Given the description of an element on the screen output the (x, y) to click on. 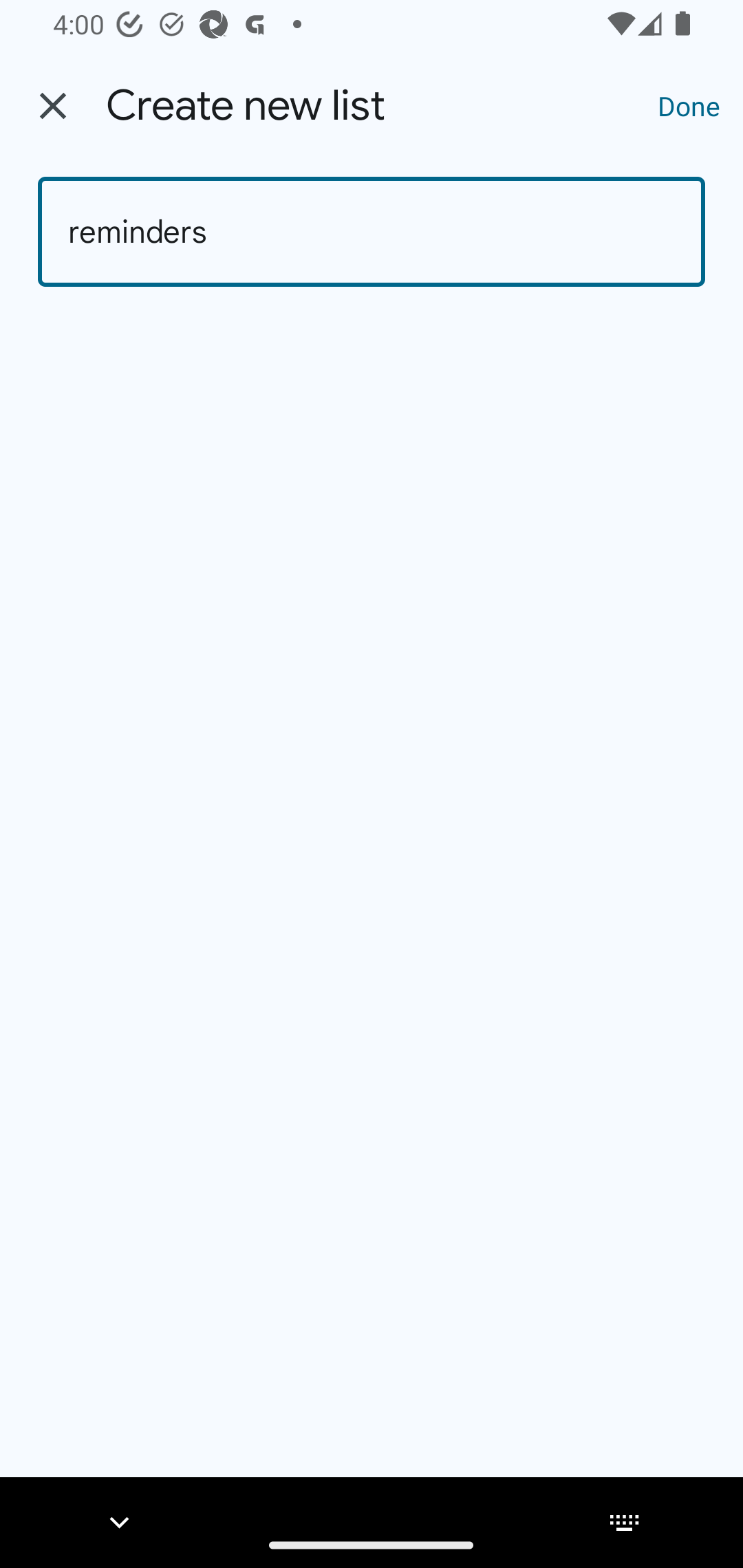
Back (53, 105)
Done (689, 105)
reminders (371, 231)
